Given the description of an element on the screen output the (x, y) to click on. 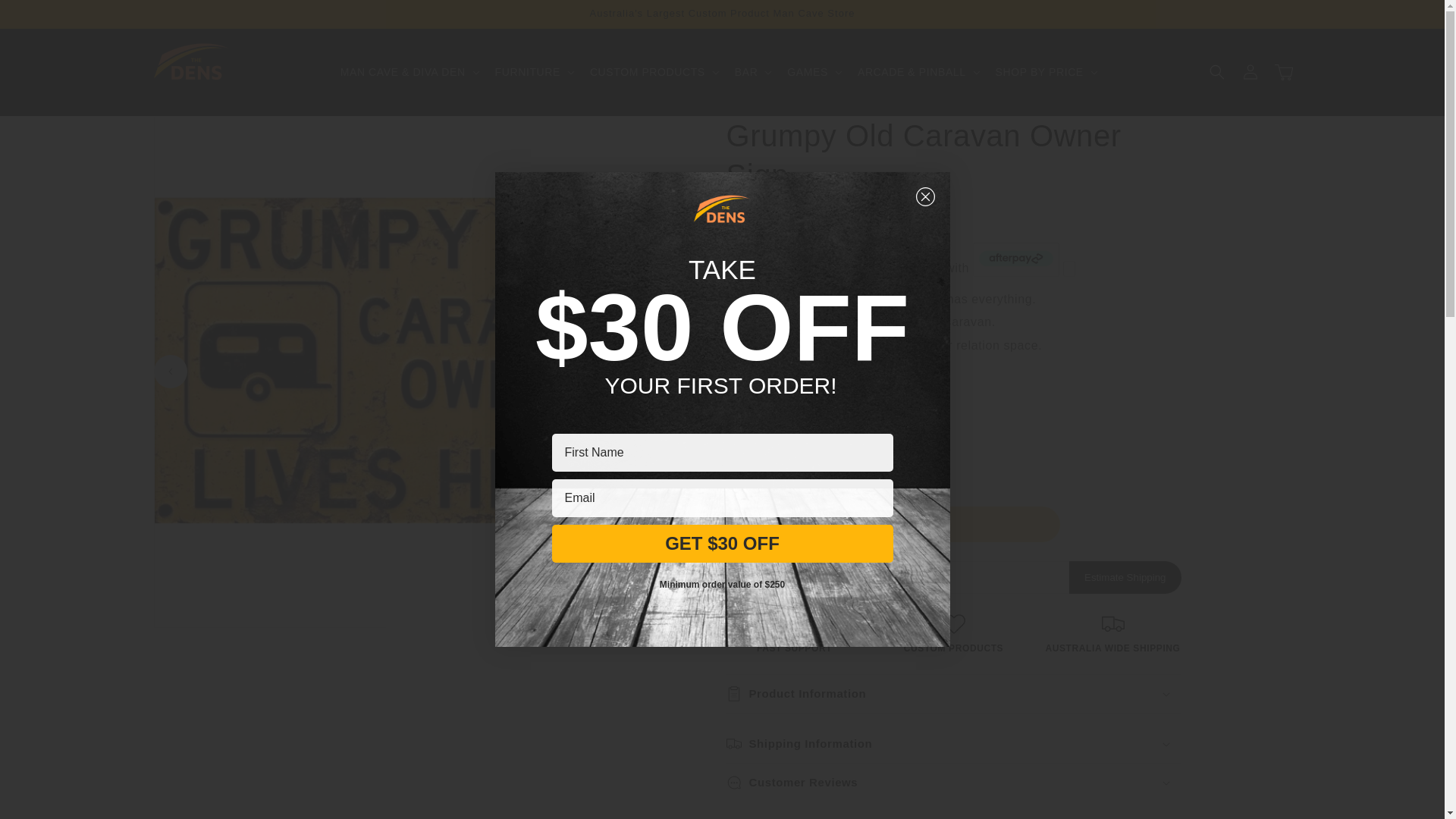
Skip to content (45, 17)
1 (780, 469)
